Given the description of an element on the screen output the (x, y) to click on. 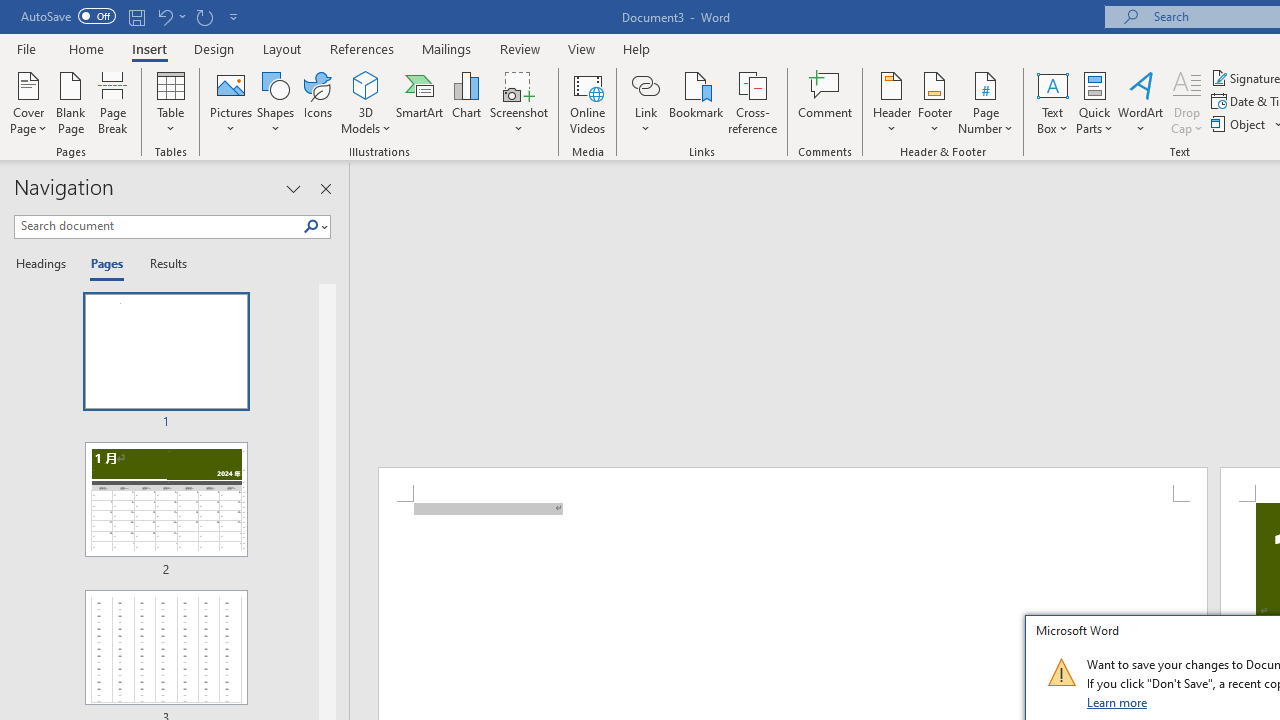
Table (170, 102)
Cross-reference... (752, 102)
Repeat Doc Close (204, 15)
Screenshot (518, 102)
Link (645, 102)
Drop Cap (1187, 102)
Cover Page (28, 102)
Link (645, 84)
Page Number (986, 102)
